Given the description of an element on the screen output the (x, y) to click on. 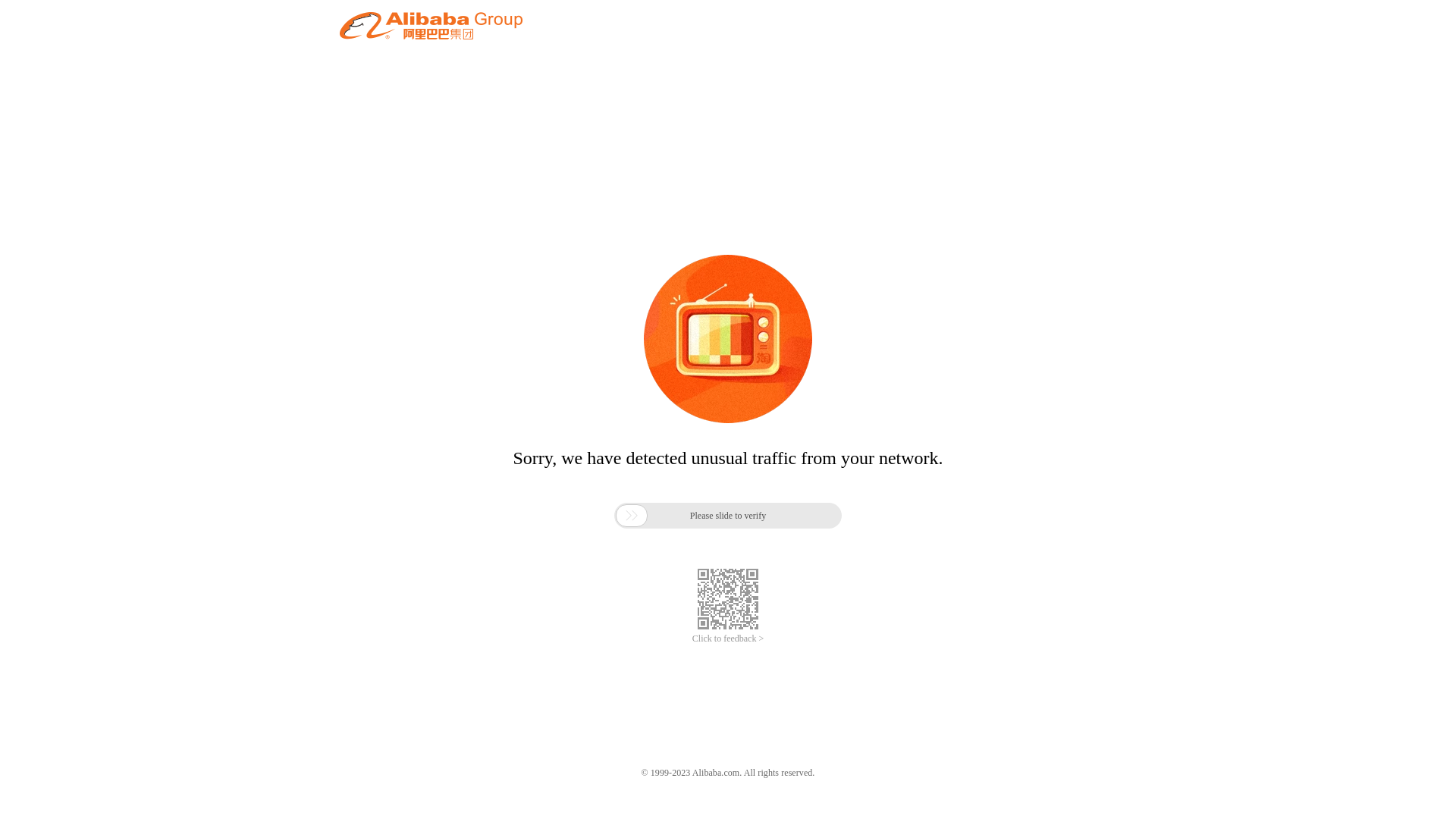
Click to feedback > Element type: text (727, 638)
